Given the description of an element on the screen output the (x, y) to click on. 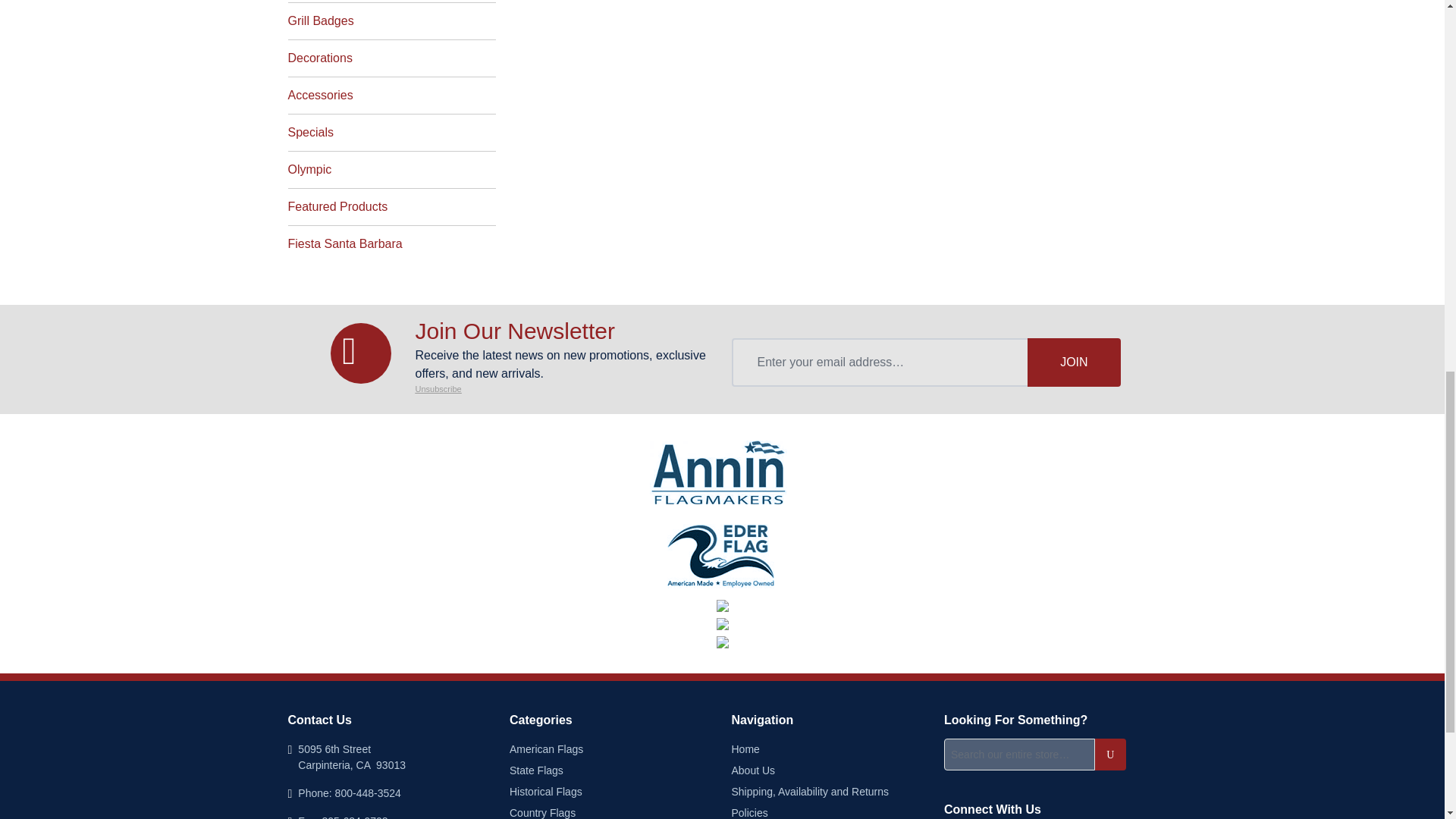
Sign Up (1073, 362)
